Given the description of an element on the screen output the (x, y) to click on. 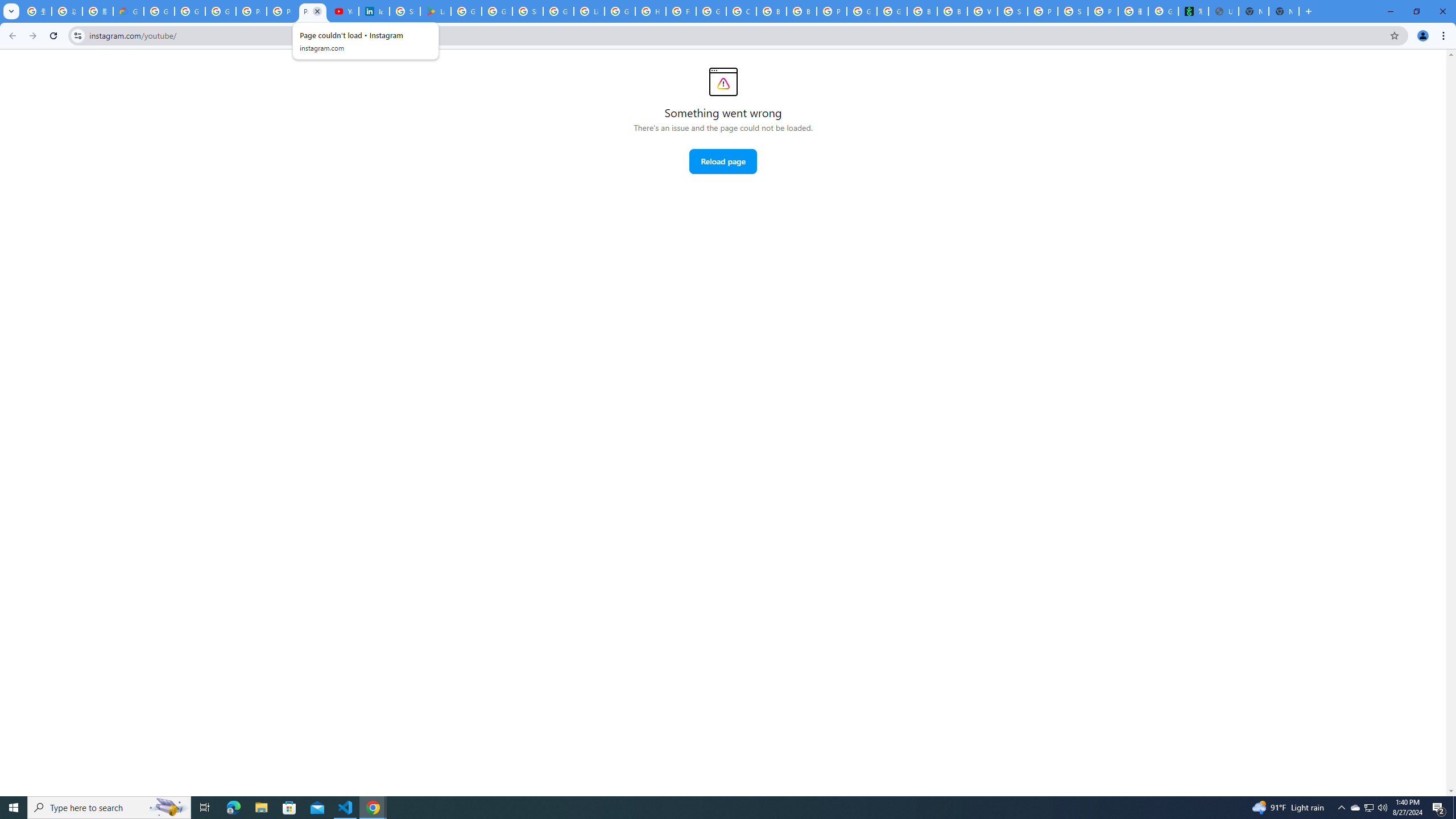
Privacy Help Center - Policies Help (282, 11)
YouTube Culture & Trends - On The Rise: Handcam Videos (343, 11)
Browse Chrome as a guest - Computer - Google Chrome Help (771, 11)
Google Cloud Platform (892, 11)
